Given the description of an element on the screen output the (x, y) to click on. 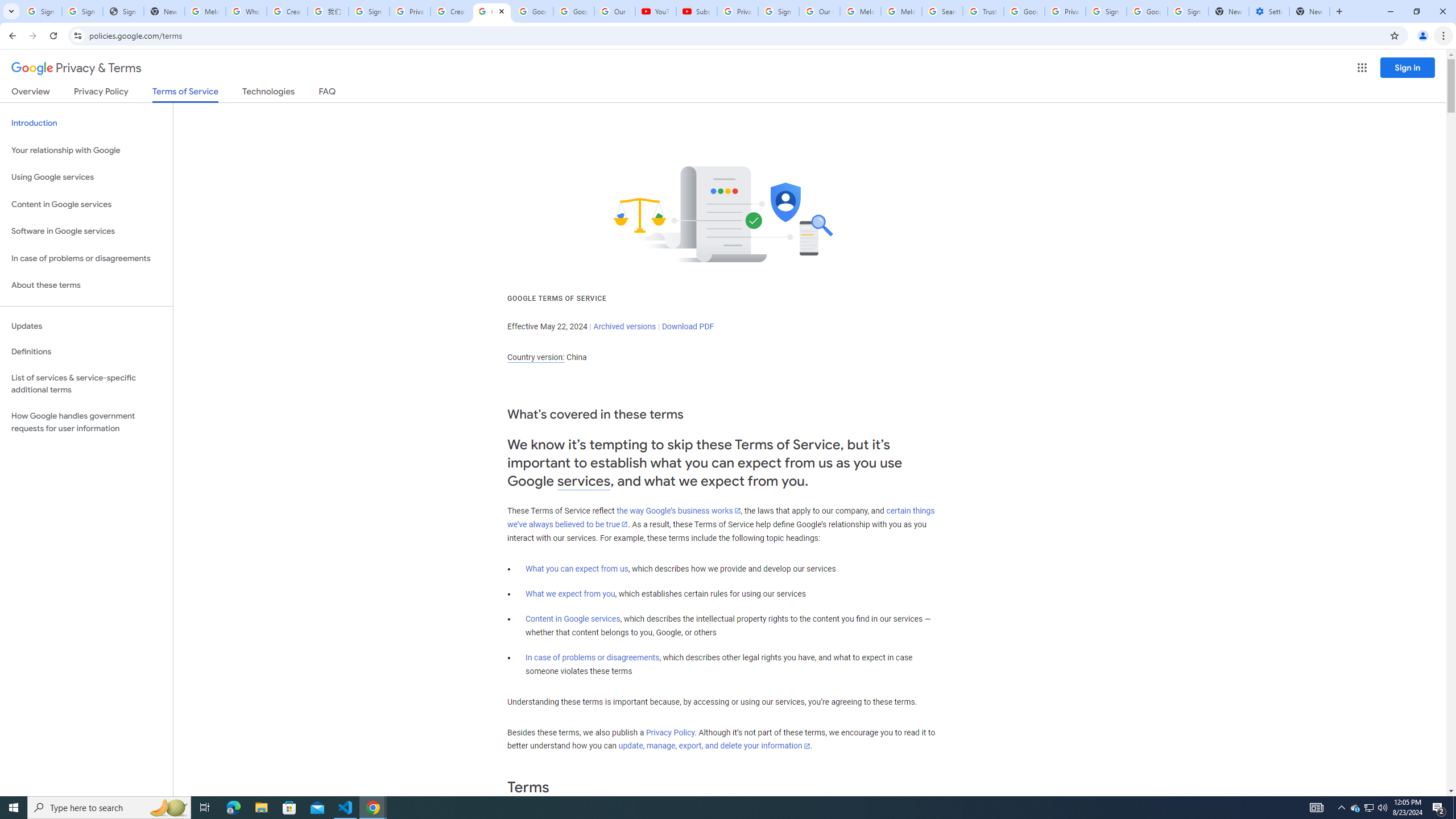
Definitions (86, 352)
Privacy Policy (669, 732)
Create your Google Account (450, 11)
Sign in - Google Accounts (1105, 11)
Sign In - USA TODAY (122, 11)
Sign in - Google Accounts (41, 11)
